Given the description of an element on the screen output the (x, y) to click on. 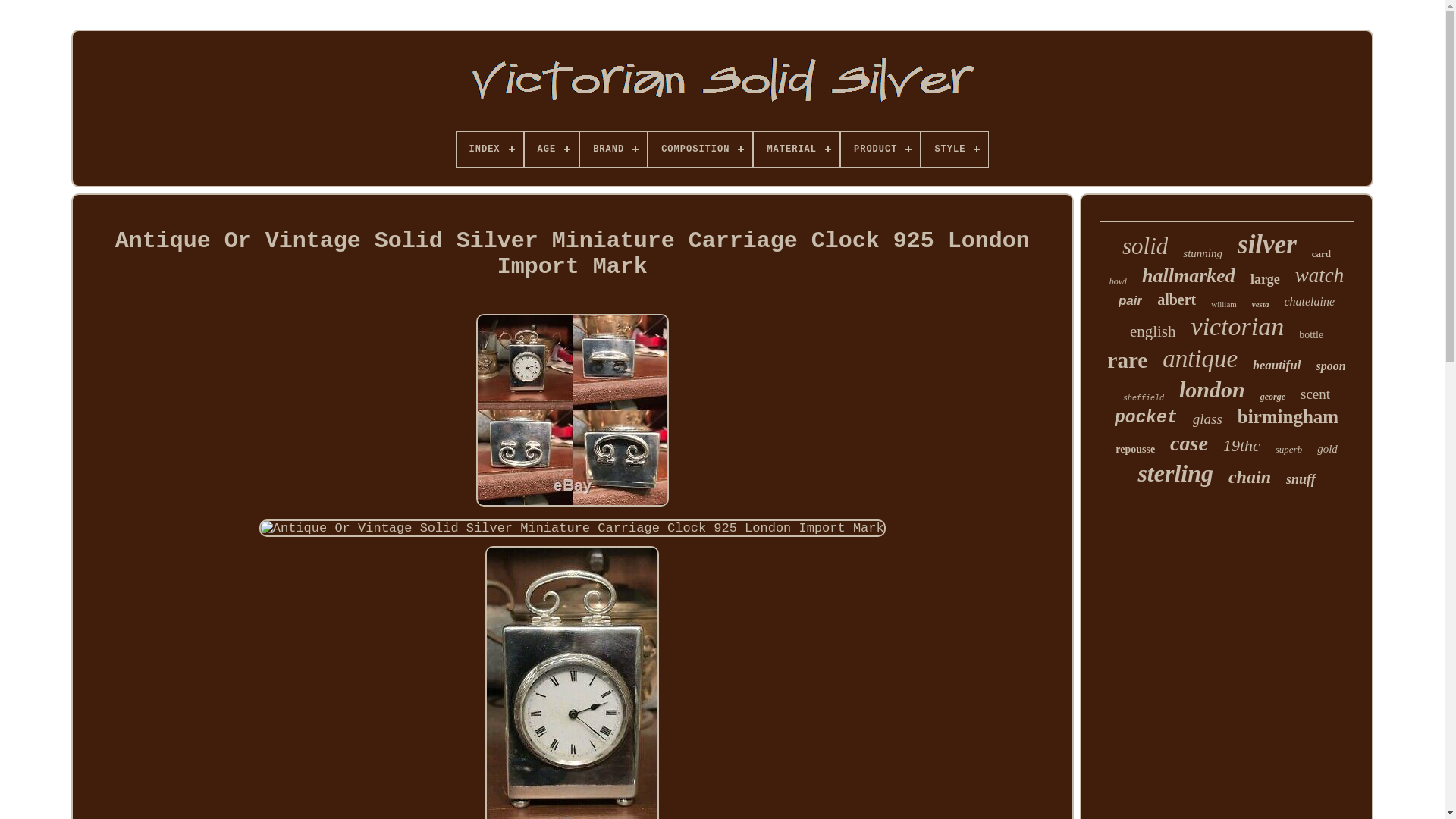
AGE (551, 149)
BRAND (612, 149)
INDEX (489, 149)
